Given the description of an element on the screen output the (x, y) to click on. 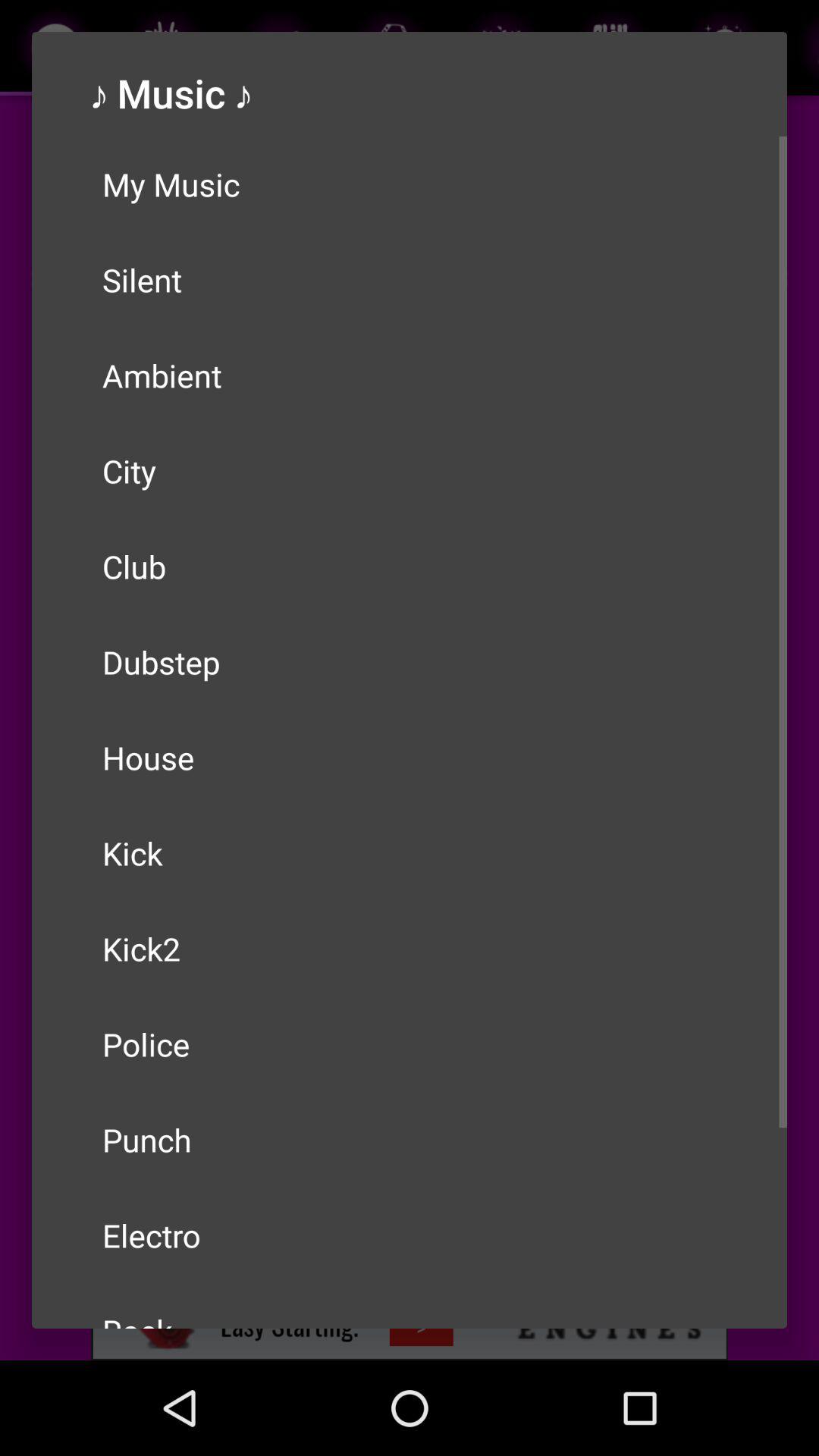
launch house (409, 757)
